Given the description of an element on the screen output the (x, y) to click on. 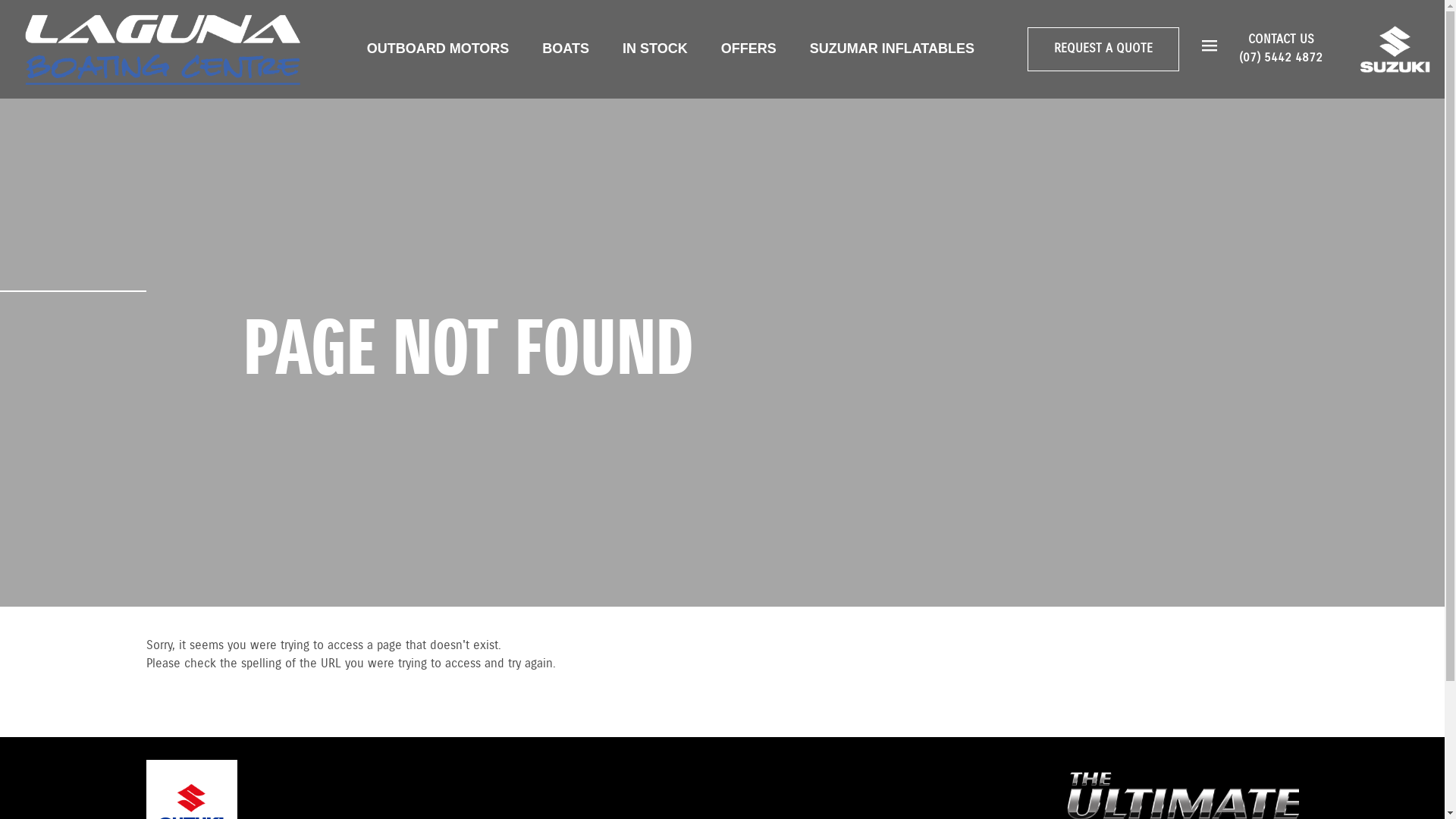
BOATS Element type: text (565, 48)
OUTBOARD MOTORS Element type: text (438, 48)
IN STOCK Element type: text (654, 48)
OFFERS Element type: text (748, 48)
SUZUMAR INFLATABLES Element type: text (891, 48)
(07) 5442 4872 Element type: text (1280, 58)
CONTACT US Element type: text (1281, 39)
Home page Element type: hover (162, 48)
REQUEST A QUOTE Element type: text (1103, 49)
